Given the description of an element on the screen output the (x, y) to click on. 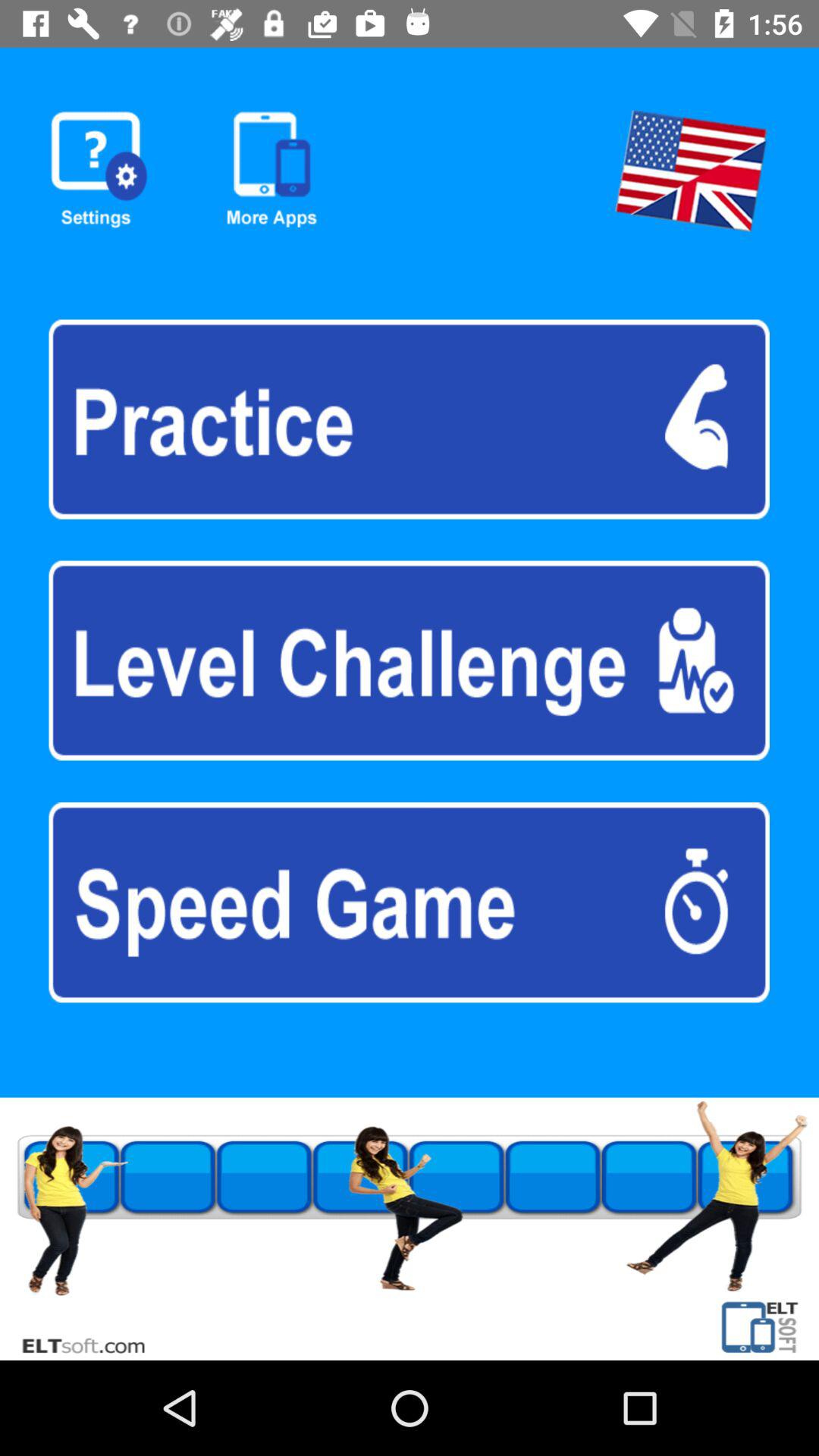
select level challenge (408, 660)
